Given the description of an element on the screen output the (x, y) to click on. 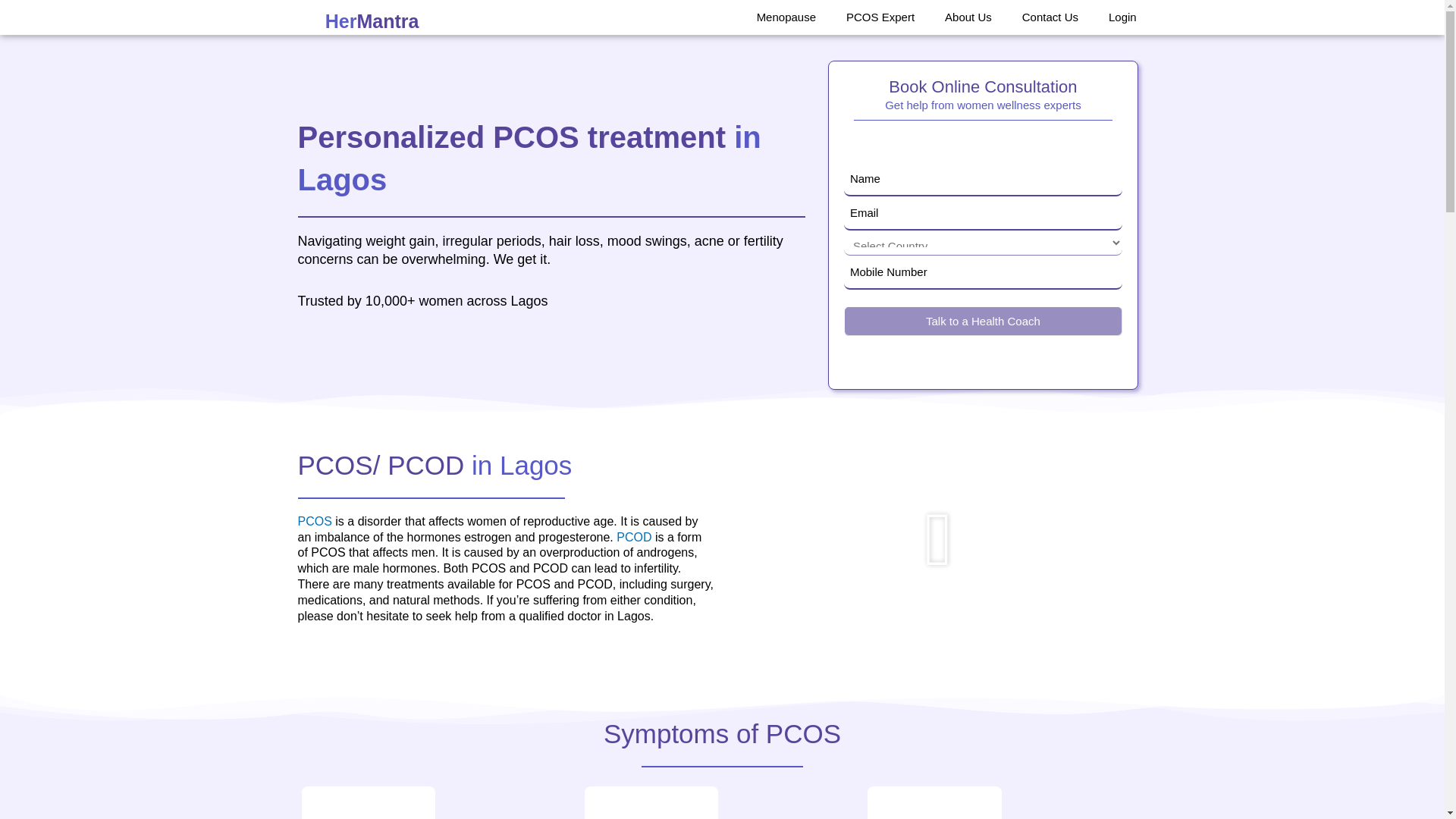
pcod (632, 536)
HerMantra (370, 23)
Menopause (786, 17)
Talk to a Health Coach (983, 320)
Contact Us (1050, 17)
PCOD (632, 536)
Talk to a Health Coach (983, 320)
PCOS (314, 521)
About Us (968, 17)
PCOS Expert (880, 17)
